Given the description of an element on the screen output the (x, y) to click on. 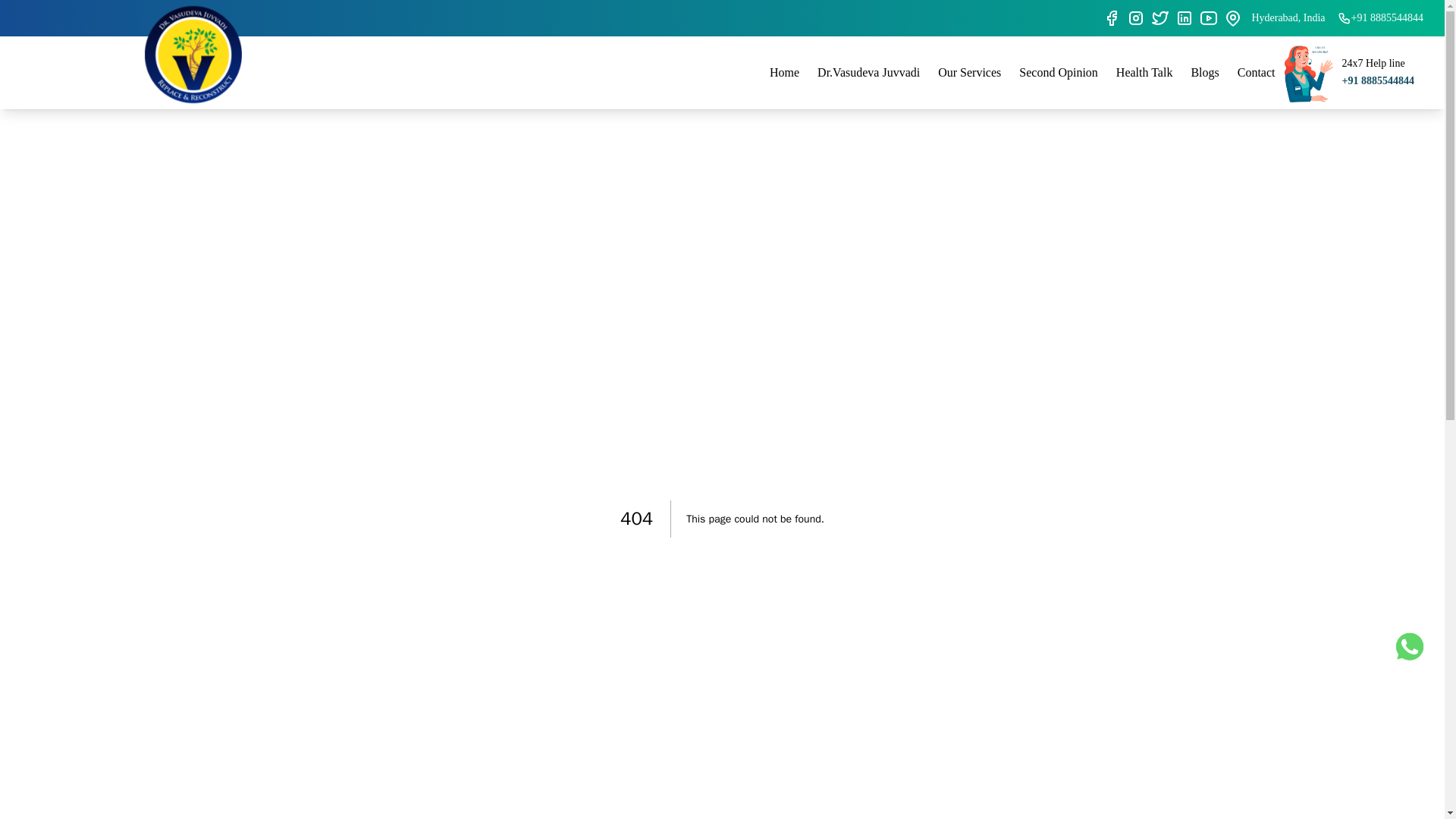
Dr.Vasudeva Juvvadi (868, 72)
Second Opinion (1058, 72)
Our Services (969, 72)
Home (784, 72)
Health Talk (1144, 72)
Contact (1256, 72)
Blogs (1203, 72)
